Given the description of an element on the screen output the (x, y) to click on. 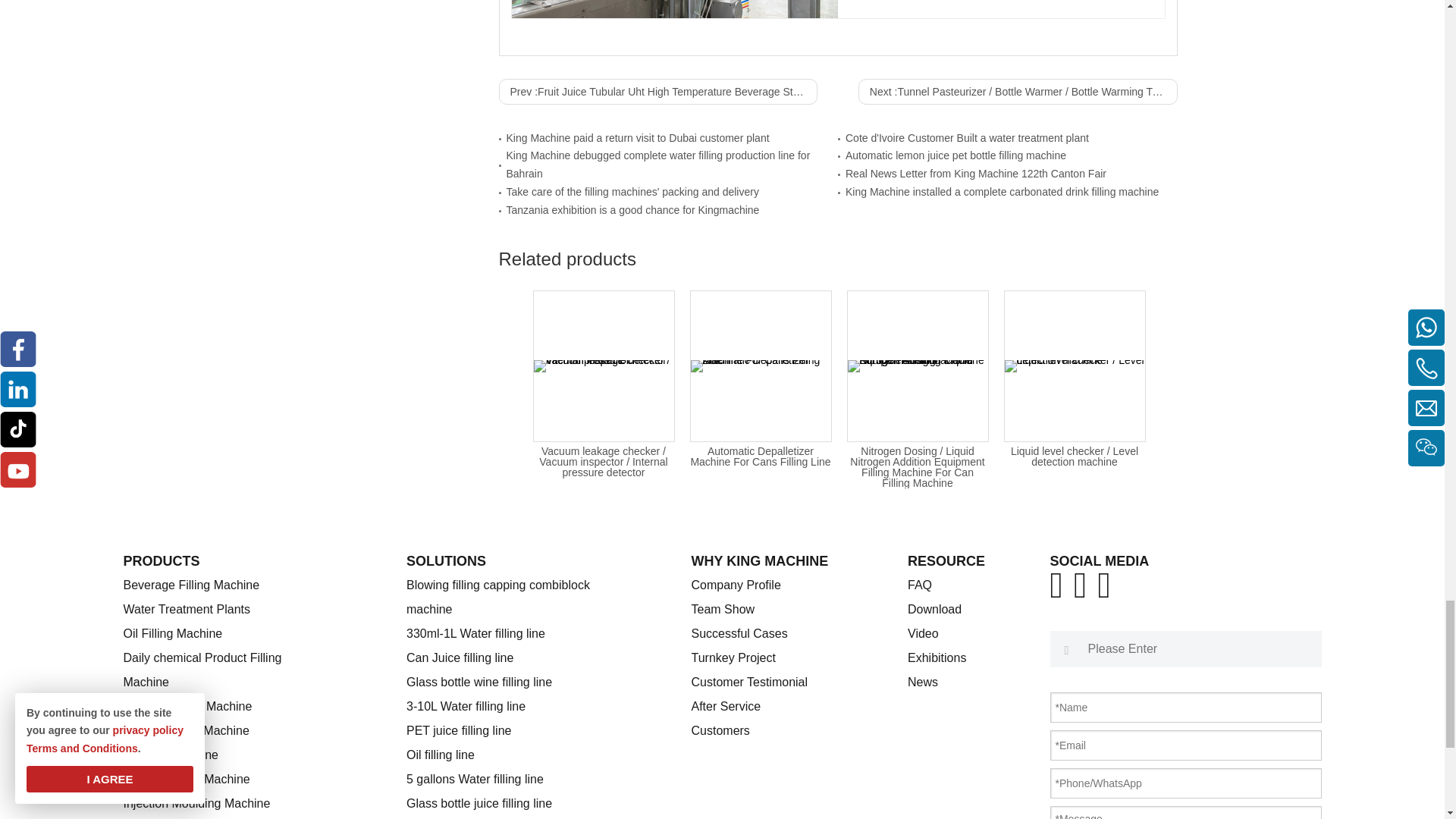
can sealing machine (674, 9)
